Given the description of an element on the screen output the (x, y) to click on. 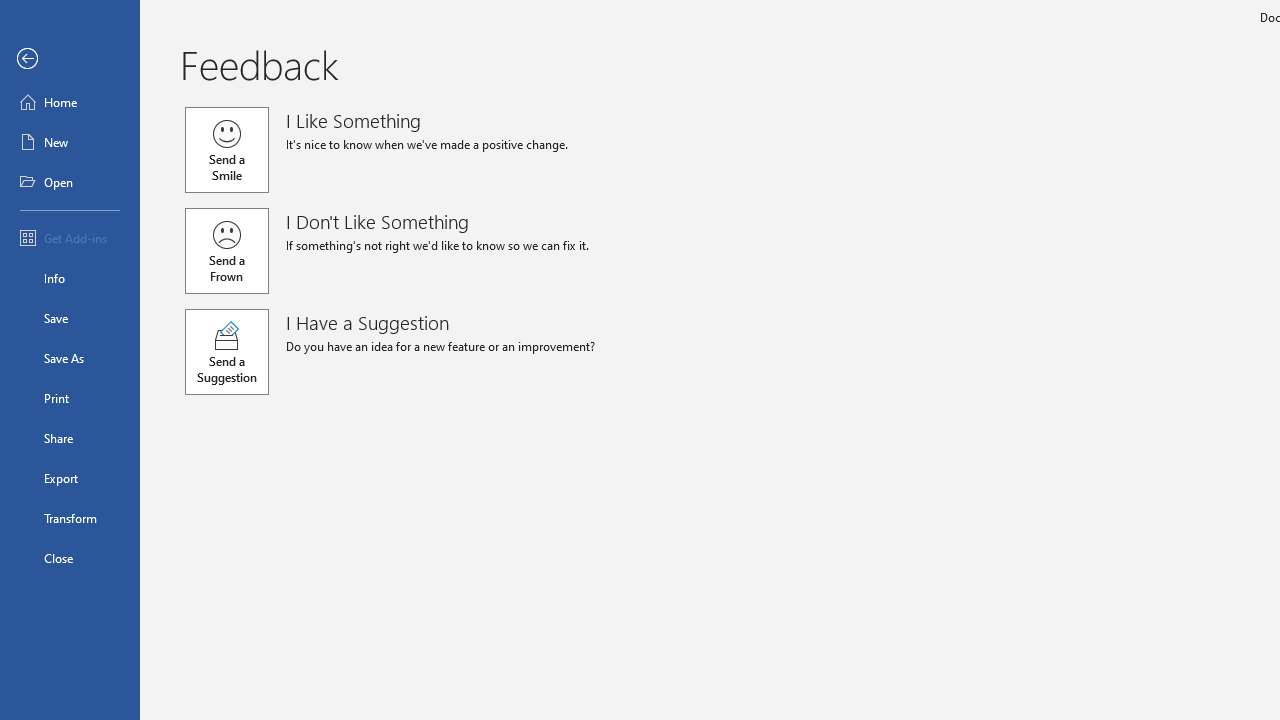
Export (69, 477)
Get Add-ins (69, 237)
